Given the description of an element on the screen output the (x, y) to click on. 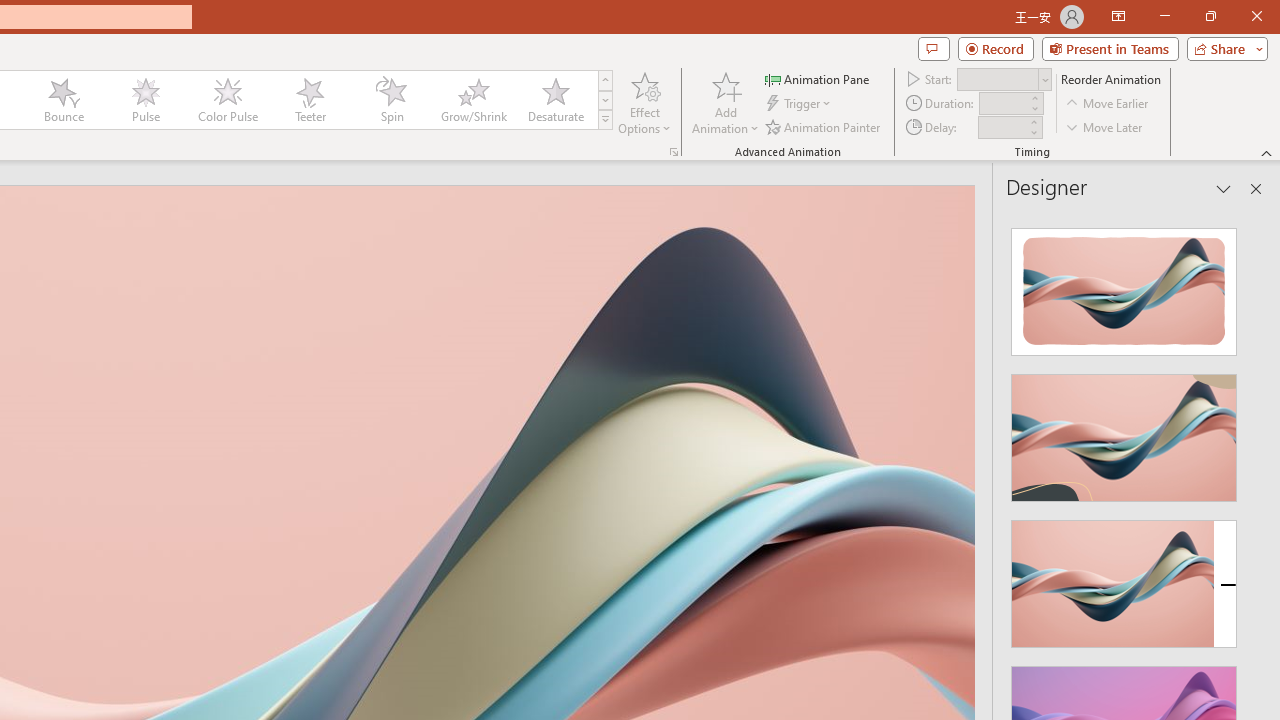
Color Pulse (227, 100)
Move Later (1105, 126)
Teeter (309, 100)
Trigger (799, 103)
More (1033, 121)
